Given the description of an element on the screen output the (x, y) to click on. 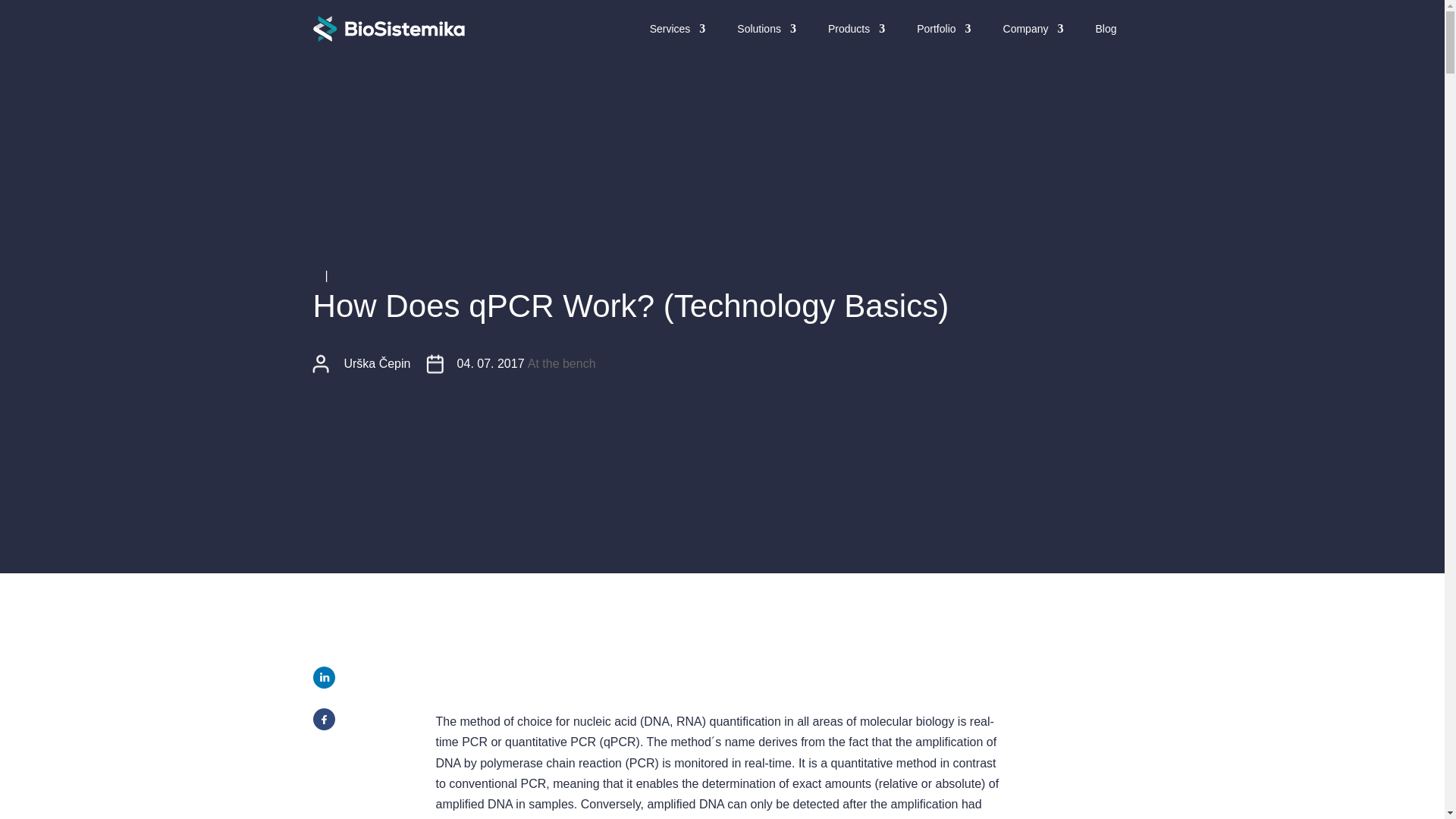
in (323, 677)
Solutions (759, 28)
fb (323, 719)
At the bench (561, 362)
Portfolio (936, 28)
Blog (1105, 28)
Products (848, 28)
Company (1026, 28)
Services (670, 28)
